Given the description of an element on the screen output the (x, y) to click on. 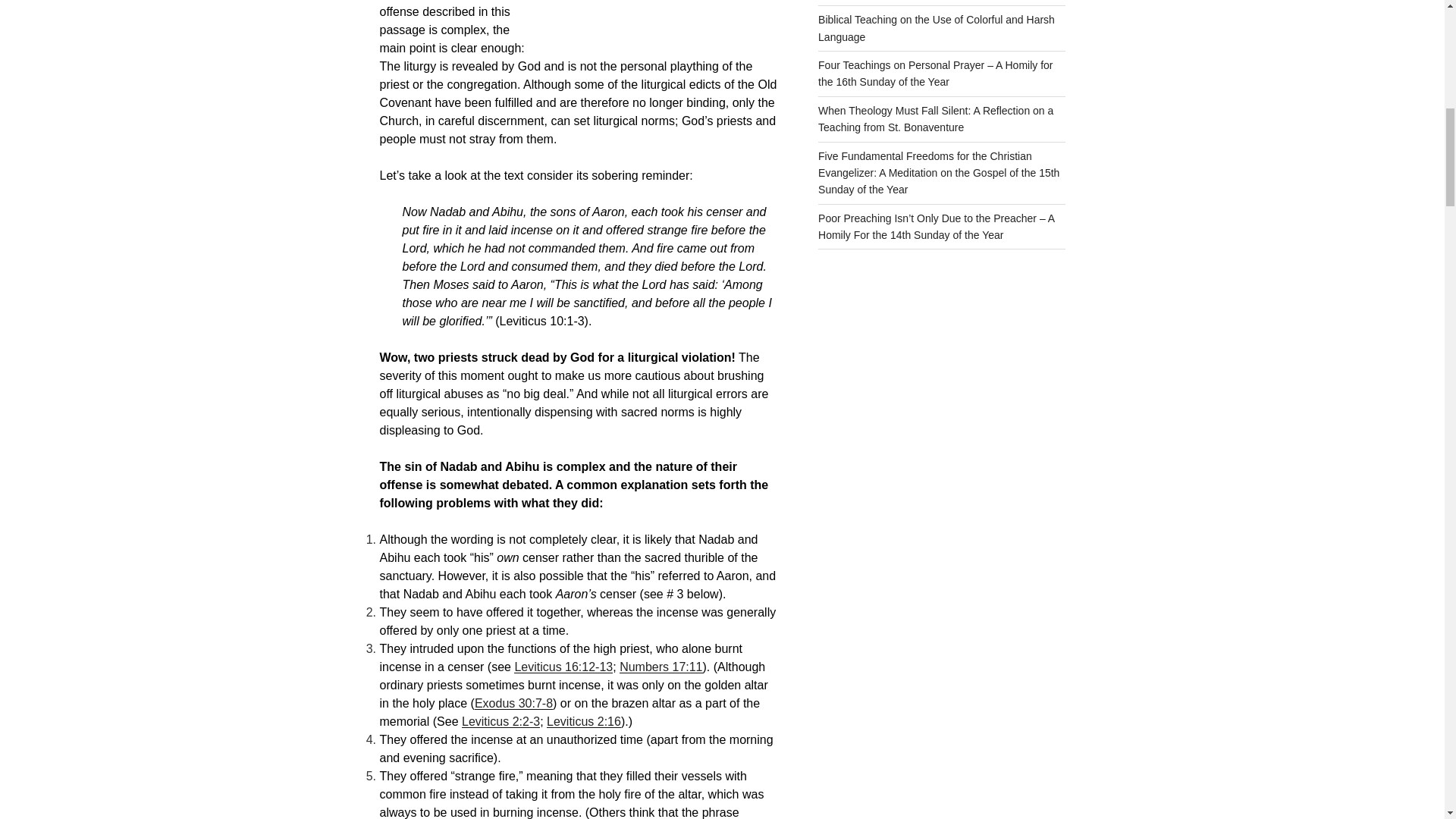
Exodus 30:7-8 (513, 703)
Numbers 17:11 (660, 666)
Leviticus 2:16 (584, 721)
Leviticus 16:12-13 (562, 666)
Biblical Teaching on the Use of Colorful and Harsh Language (936, 27)
Leviticus 2:2-3 (500, 721)
